Given the description of an element on the screen output the (x, y) to click on. 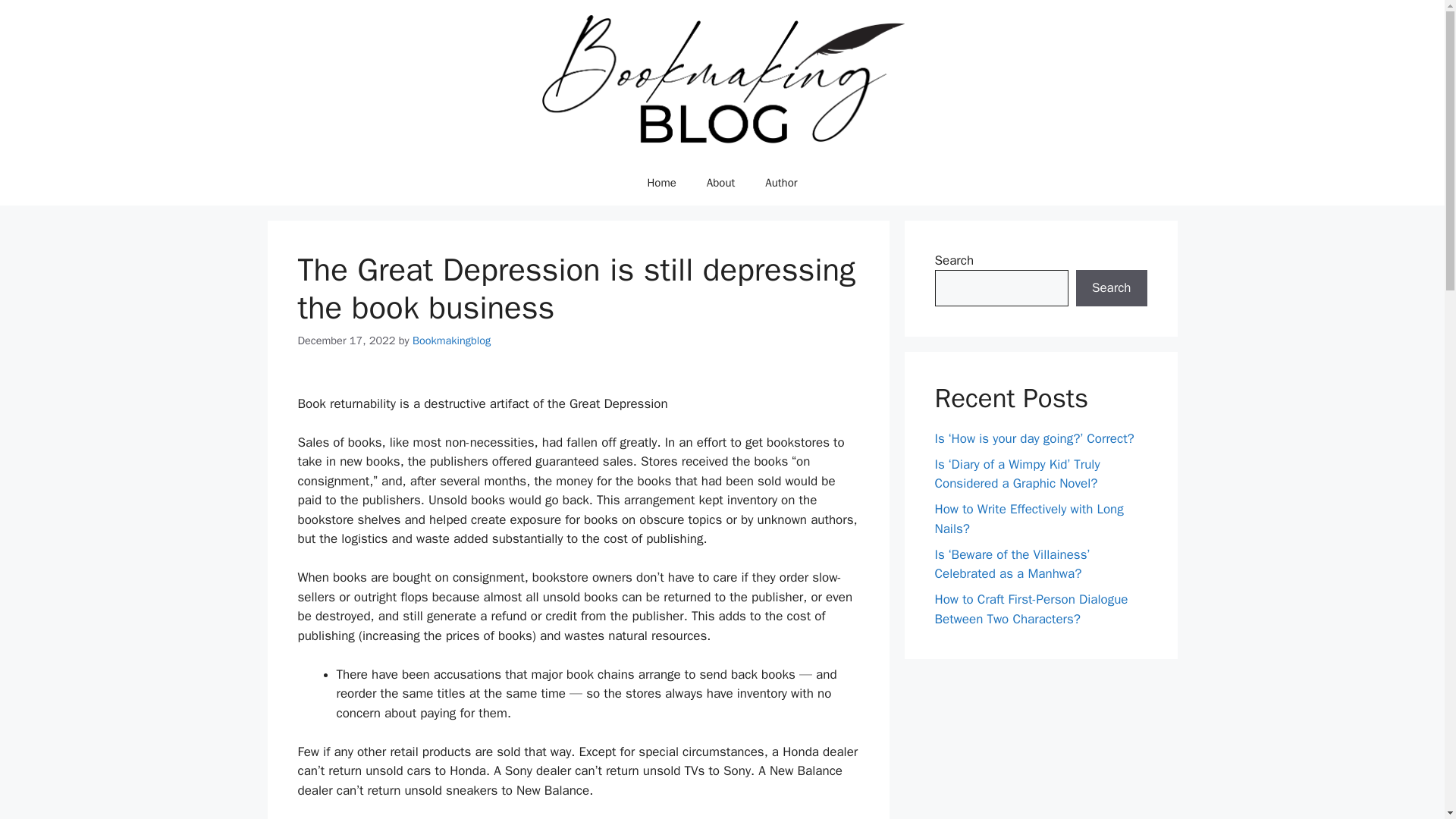
Home (660, 182)
Search (1111, 288)
About (720, 182)
Bookmakingblog (451, 340)
Author (780, 182)
View all posts by Bookmakingblog (451, 340)
How to Write Effectively with Long Nails? (1028, 519)
How to Craft First-Person Dialogue Between Two Characters? (1030, 609)
